Given the description of an element on the screen output the (x, y) to click on. 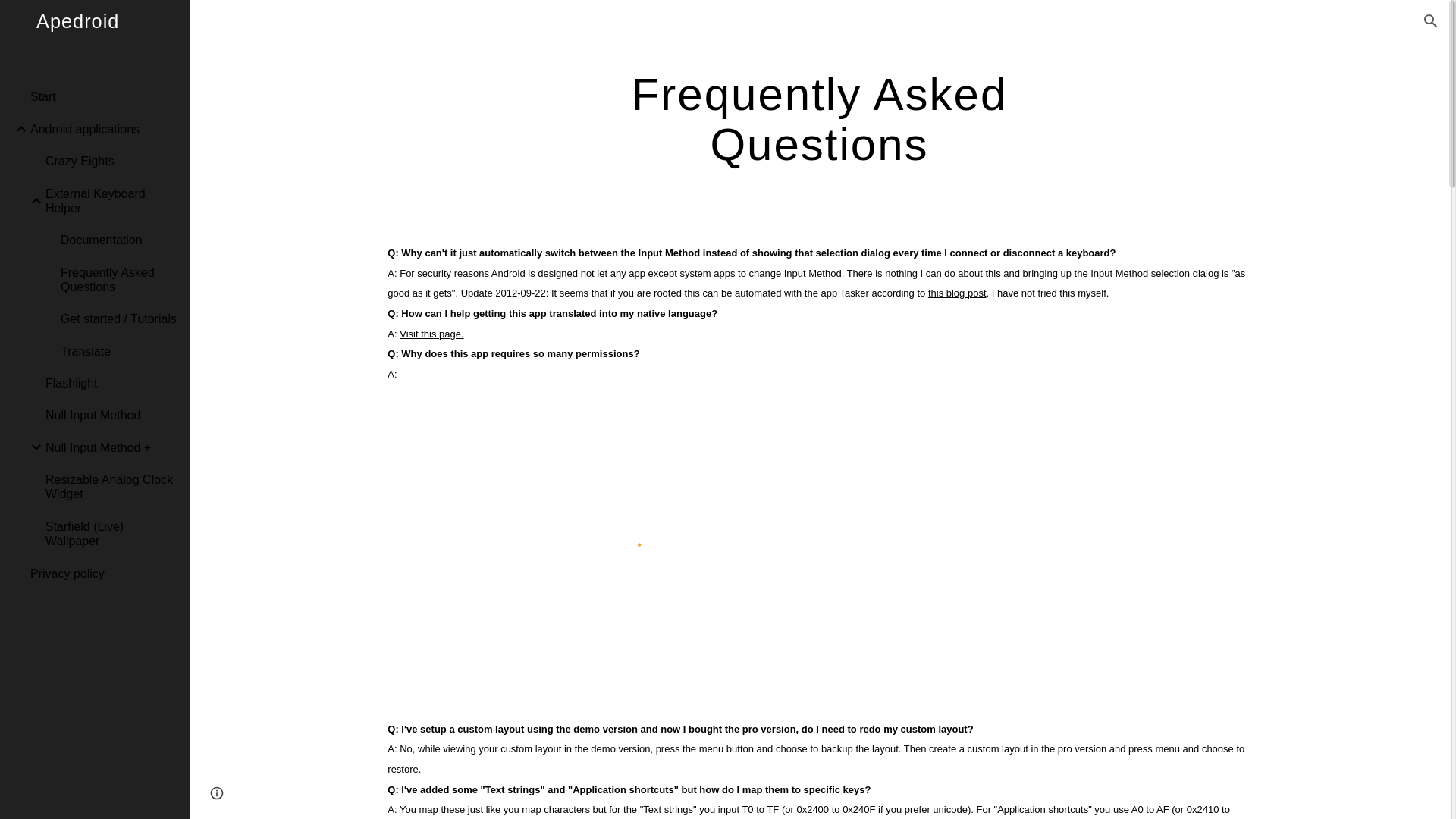
Resizable Analog Clock Widget (111, 487)
this blog post (954, 291)
Flashlight (111, 383)
Apedroid (94, 40)
Visit this page. (430, 332)
Documentation (119, 240)
Android applications (103, 128)
Frequently Asked Questions (119, 279)
Custom embed (631, 551)
External Keyboard Helper (111, 200)
Null Input Method (111, 415)
Start (103, 97)
Privacy policy (103, 572)
Crazy Eights (111, 161)
Translate (119, 350)
